Given the description of an element on the screen output the (x, y) to click on. 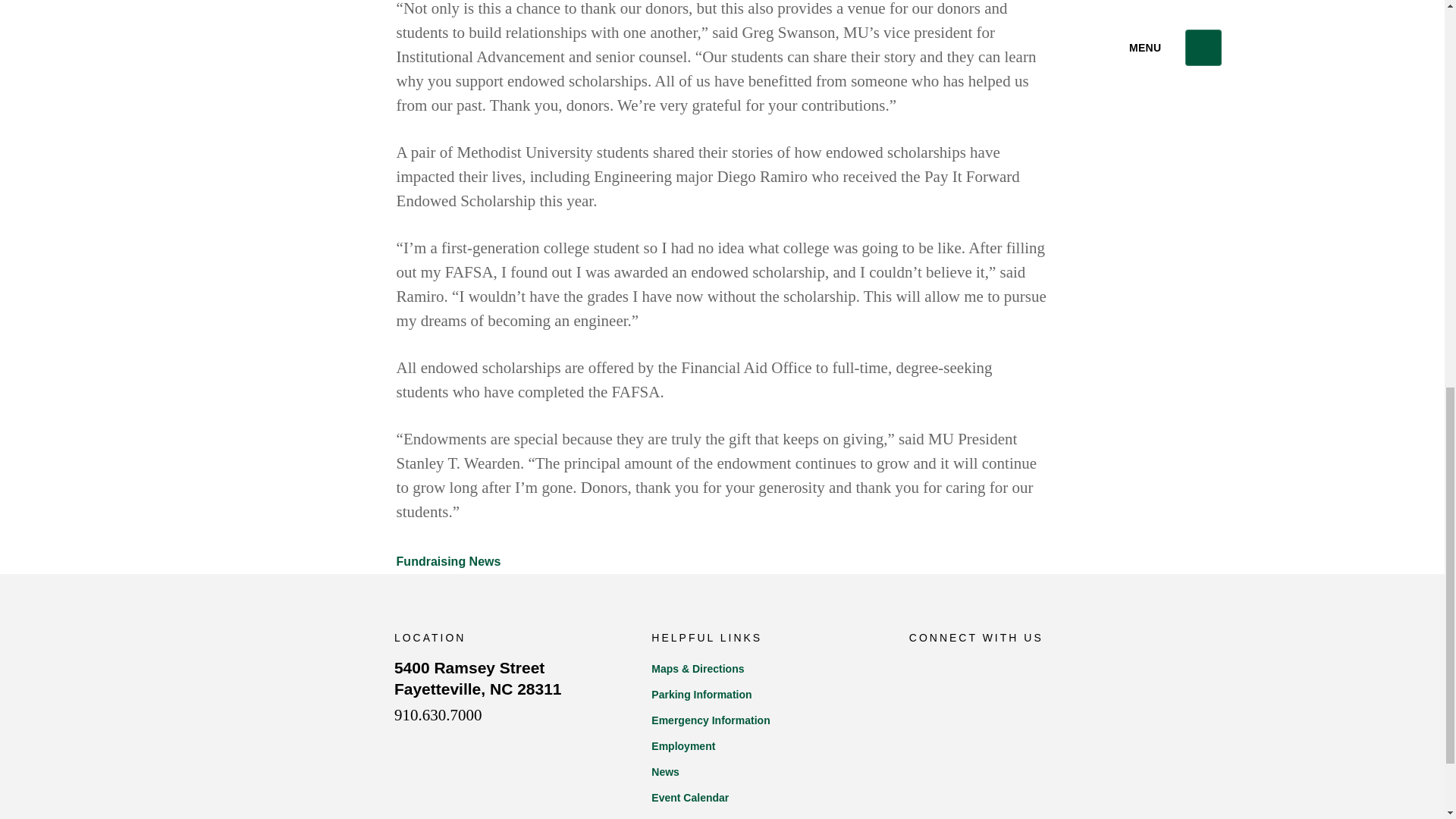
Event Calendar (763, 798)
Fundraising News (448, 561)
Facebook (920, 669)
Parking Information (478, 678)
News (763, 695)
910.630.7000 (763, 772)
Twitter (437, 714)
Employment (960, 670)
Methodist University (763, 746)
Emergency Information (293, 688)
